Given the description of an element on the screen output the (x, y) to click on. 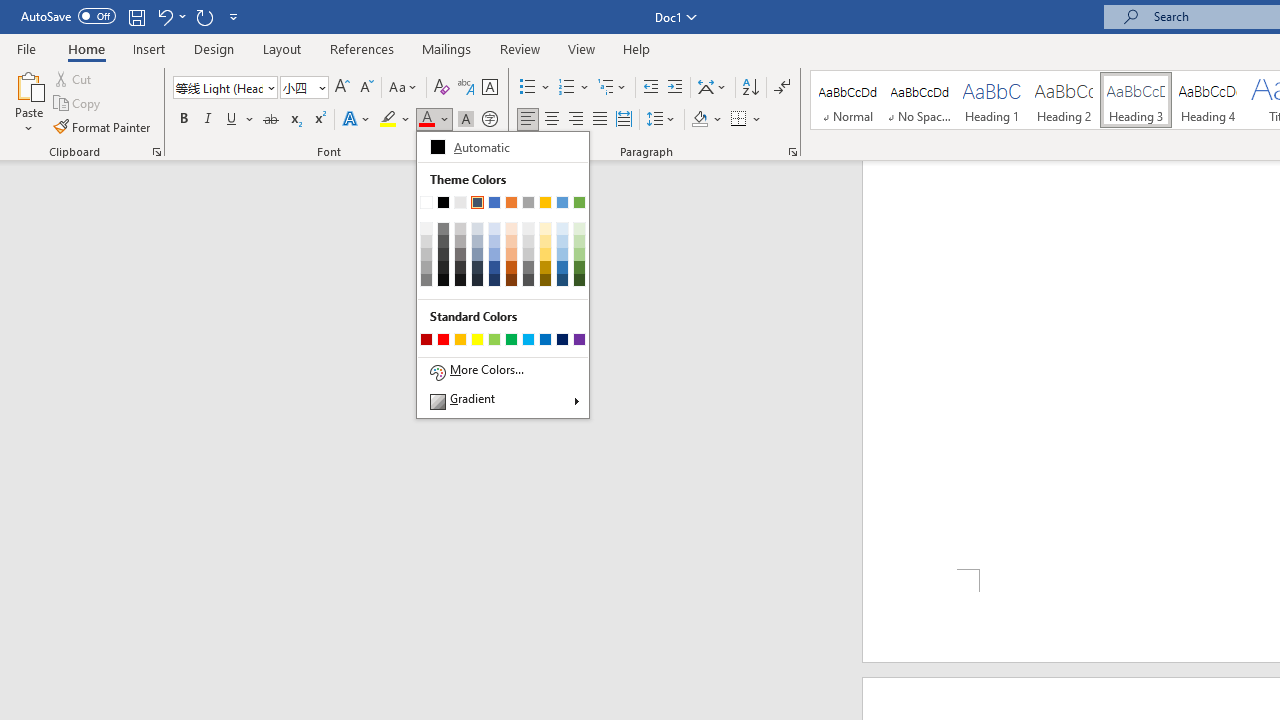
Clear Formatting (442, 87)
Bullets (535, 87)
Format Painter (103, 126)
Font Color (503, 275)
Center (552, 119)
Font (224, 87)
Increase Indent (675, 87)
Design (214, 48)
Heading 2 (1063, 100)
Repeat Style (204, 15)
Decrease Indent (650, 87)
Font Size (297, 87)
Text Highlight Color (395, 119)
